Given the description of an element on the screen output the (x, y) to click on. 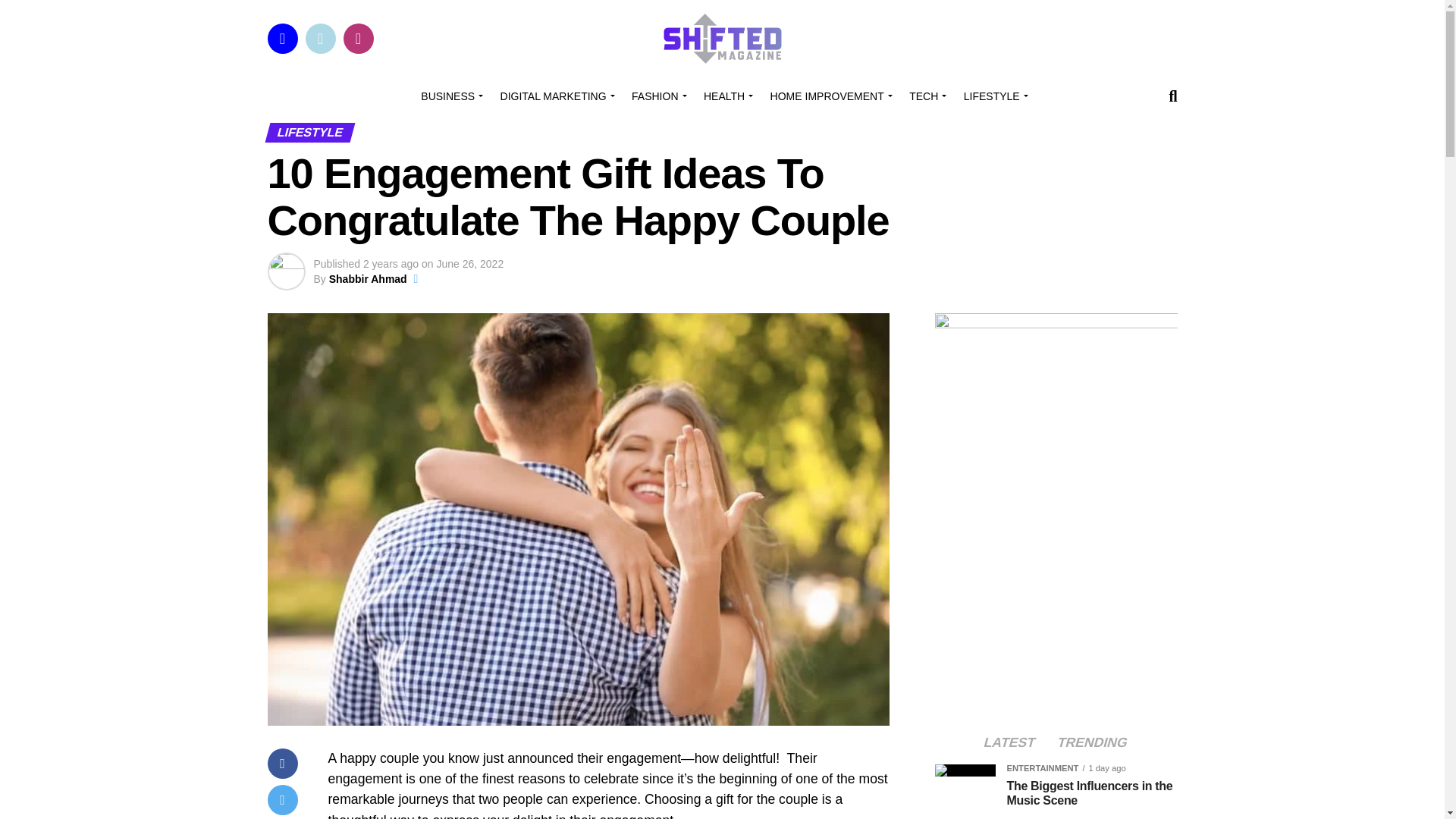
TECH (924, 95)
HOME IMPROVEMENT (828, 95)
HEALTH (725, 95)
BUSINESS (449, 95)
DIGITAL MARKETING (556, 95)
Posts by Shabbir Ahmad (368, 278)
FASHION (656, 95)
